Given the description of an element on the screen output the (x, y) to click on. 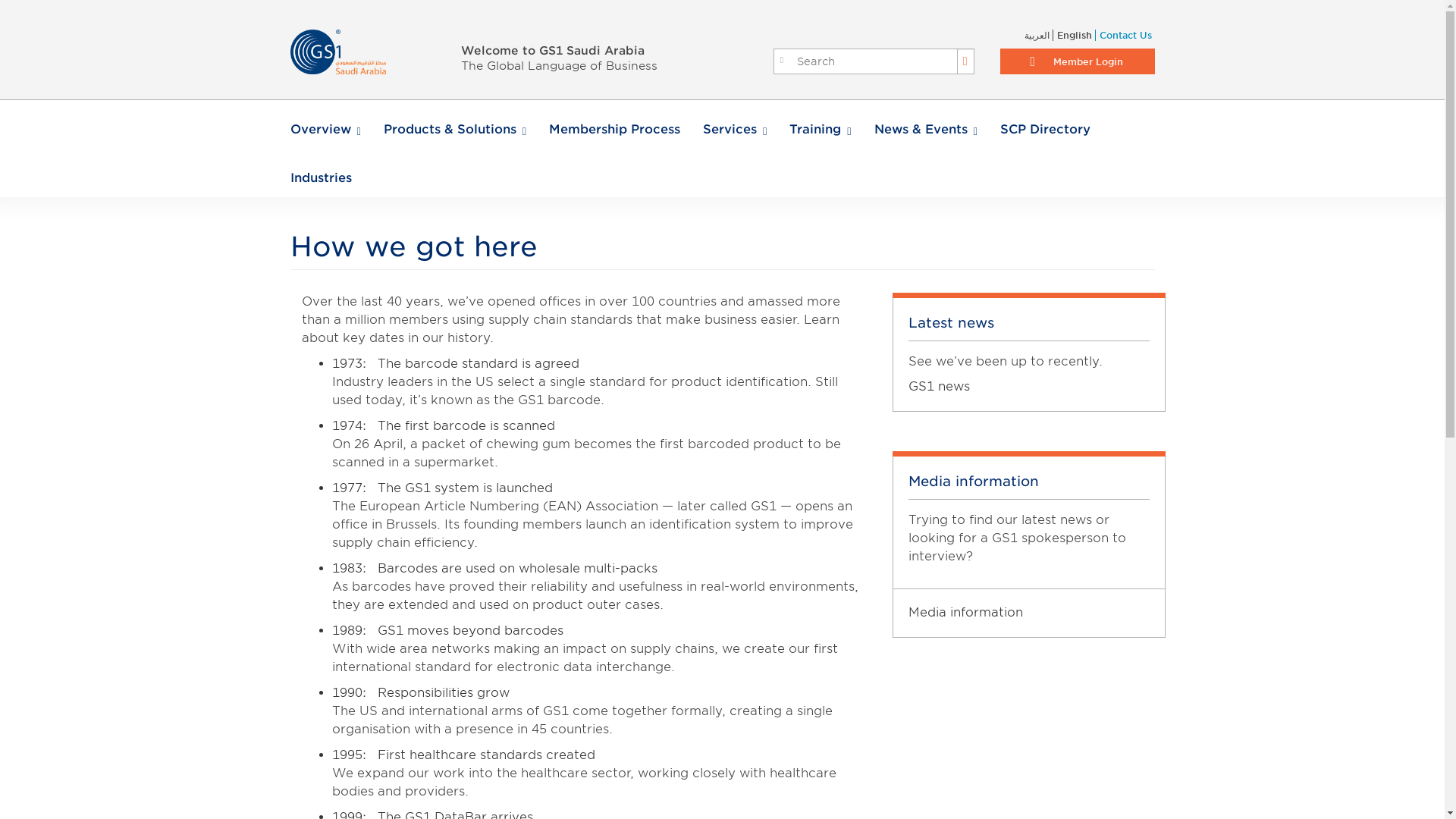
Contact Us (1122, 34)
Overview (324, 129)
Services (735, 129)
English (1072, 34)
Member Login (1076, 61)
Membership Process (613, 129)
Training (819, 129)
